Given the description of an element on the screen output the (x, y) to click on. 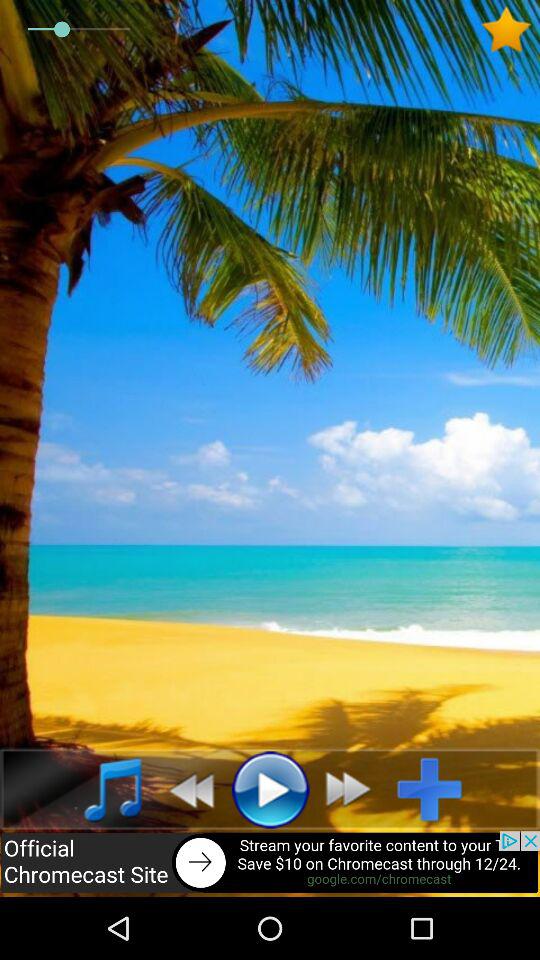
more options (438, 789)
